Given the description of an element on the screen output the (x, y) to click on. 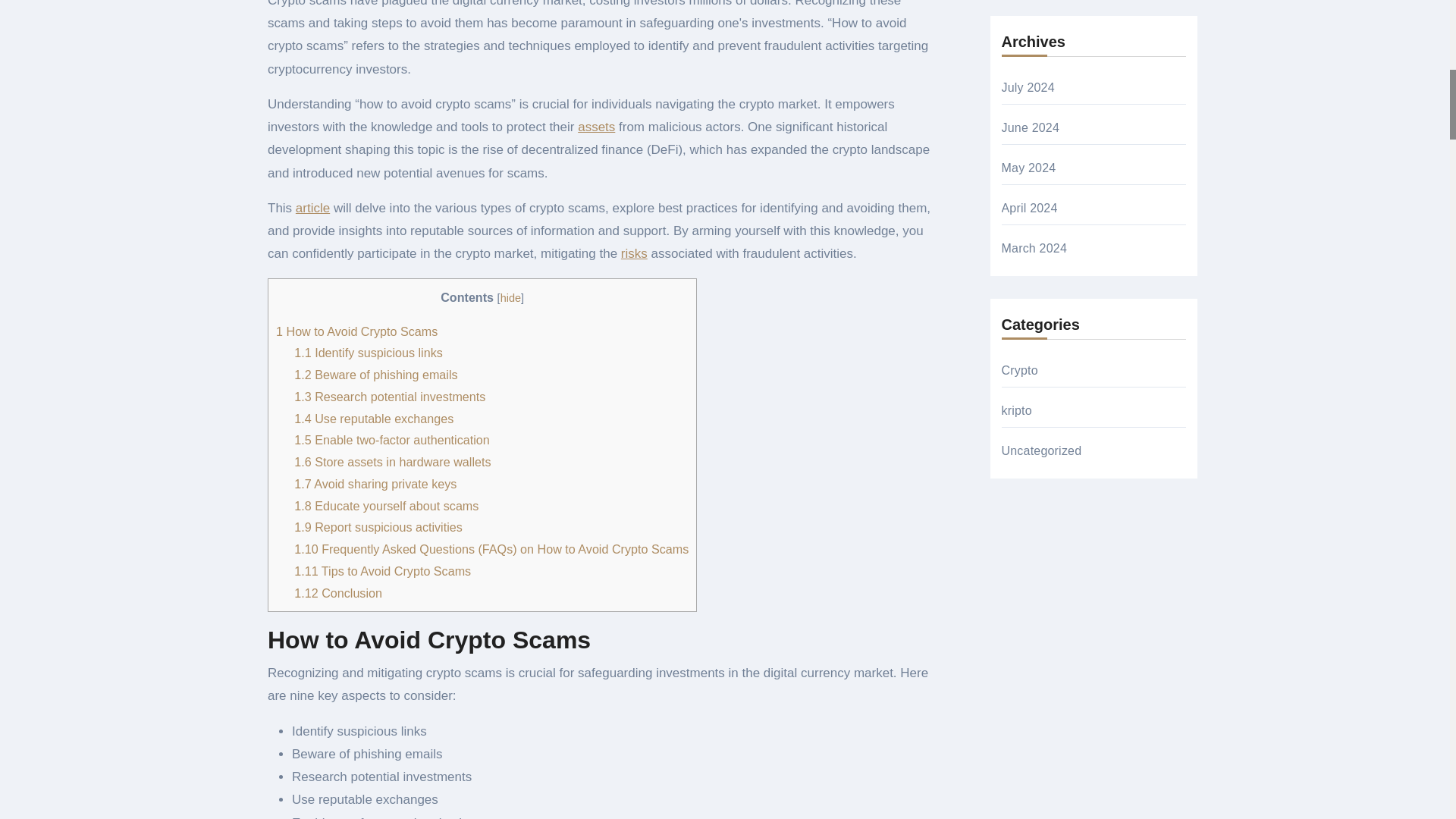
1.6 Store assets in hardware wallets (392, 461)
1.7 Avoid sharing private keys (375, 483)
risks (634, 253)
assets (596, 126)
hide (510, 297)
1.11 Tips to Avoid Crypto Scams (382, 571)
article (312, 207)
1.3 Research potential investments (389, 396)
1.9 Report suspicious activities (378, 526)
Posts tagged with risks (634, 253)
1.4 Use reputable exchanges (373, 418)
1.2 Beware of phishing emails (375, 374)
1.12 Conclusion (337, 592)
1 How to Avoid Crypto Scams (357, 331)
1.8 Educate yourself about scams (386, 505)
